Given the description of an element on the screen output the (x, y) to click on. 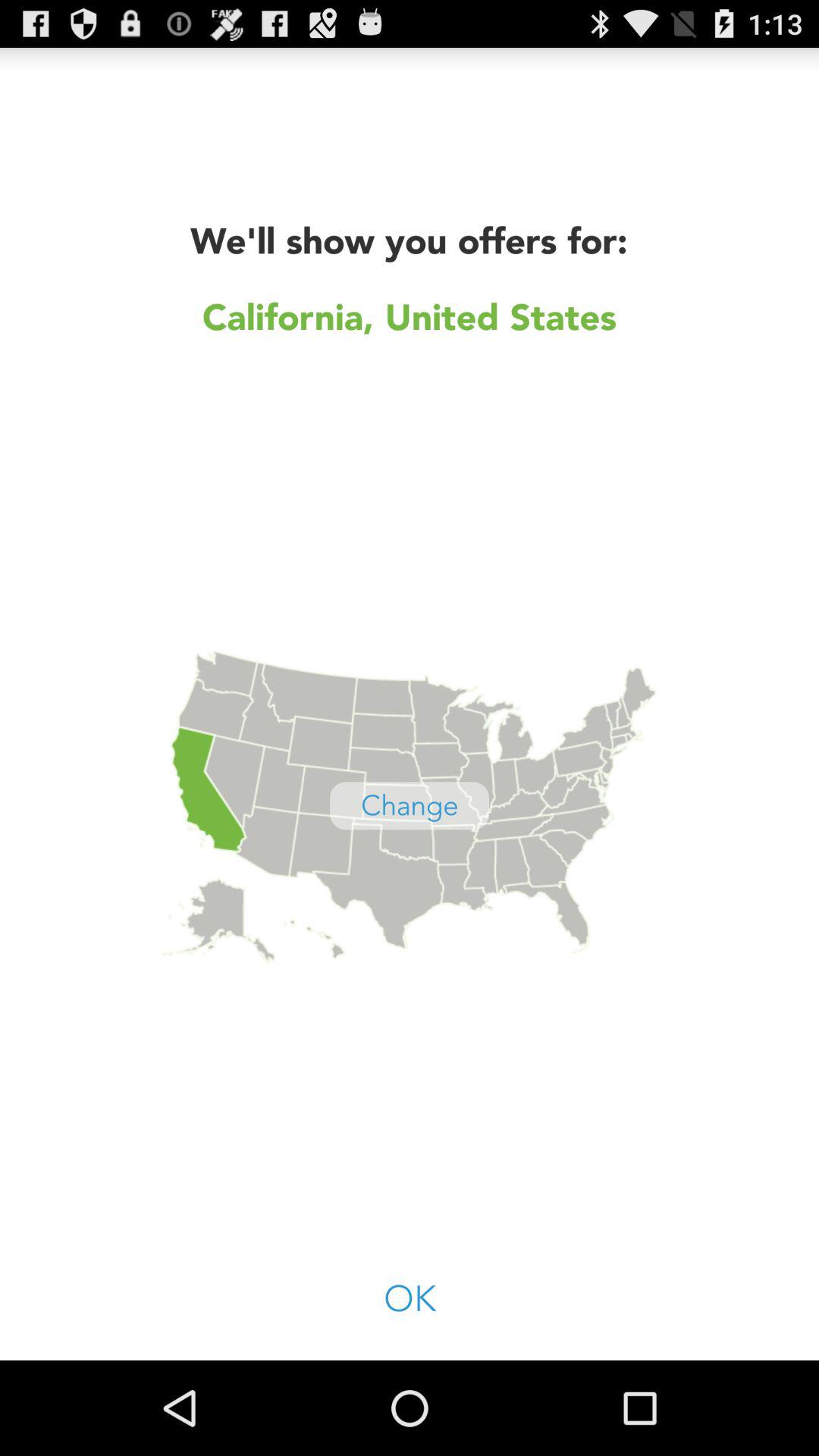
swipe to ok icon (409, 1300)
